Given the description of an element on the screen output the (x, y) to click on. 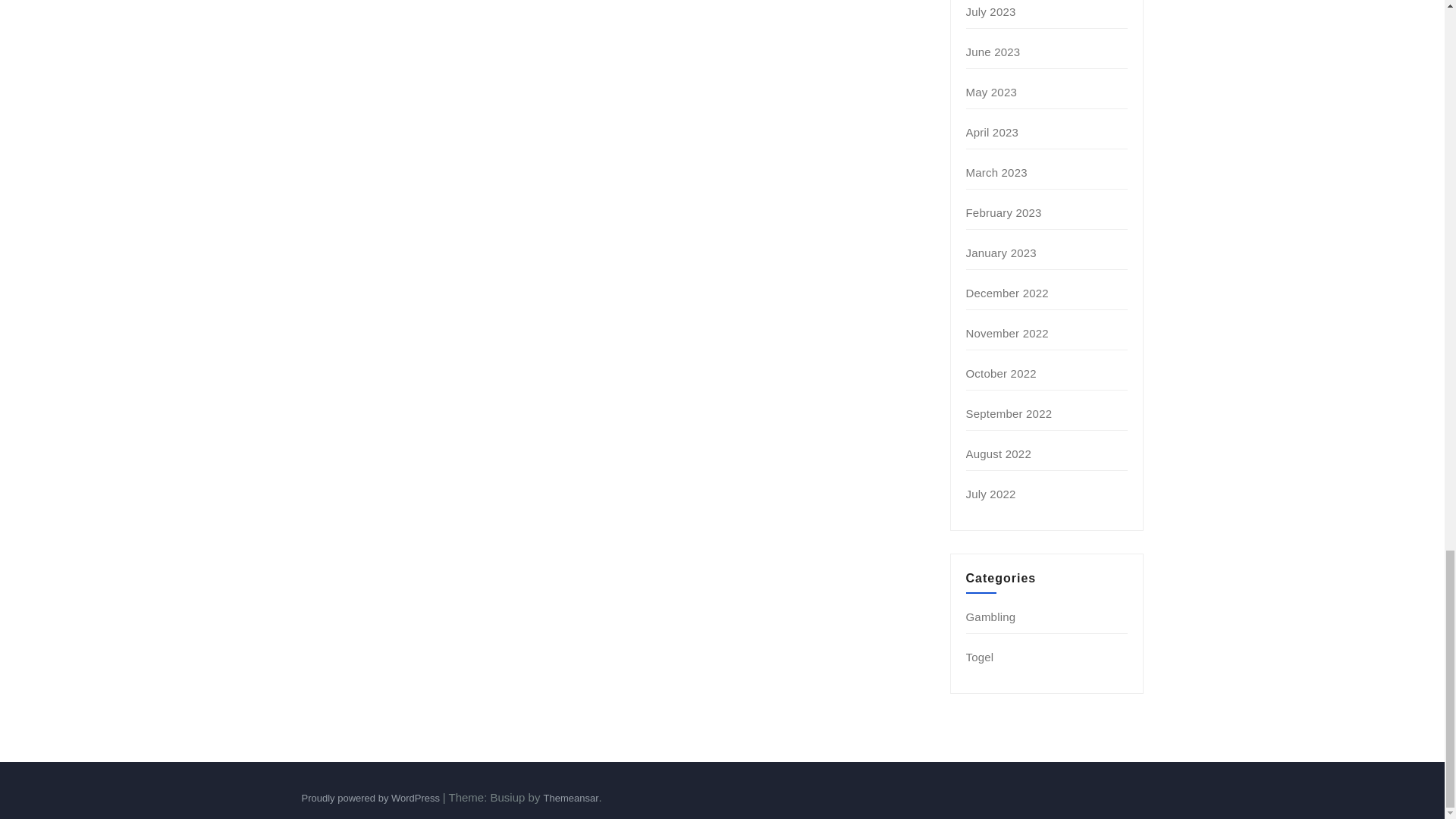
March 2023 (996, 172)
June 2023 (993, 51)
July 2023 (991, 11)
May 2023 (991, 91)
April 2023 (992, 132)
